Given the description of an element on the screen output the (x, y) to click on. 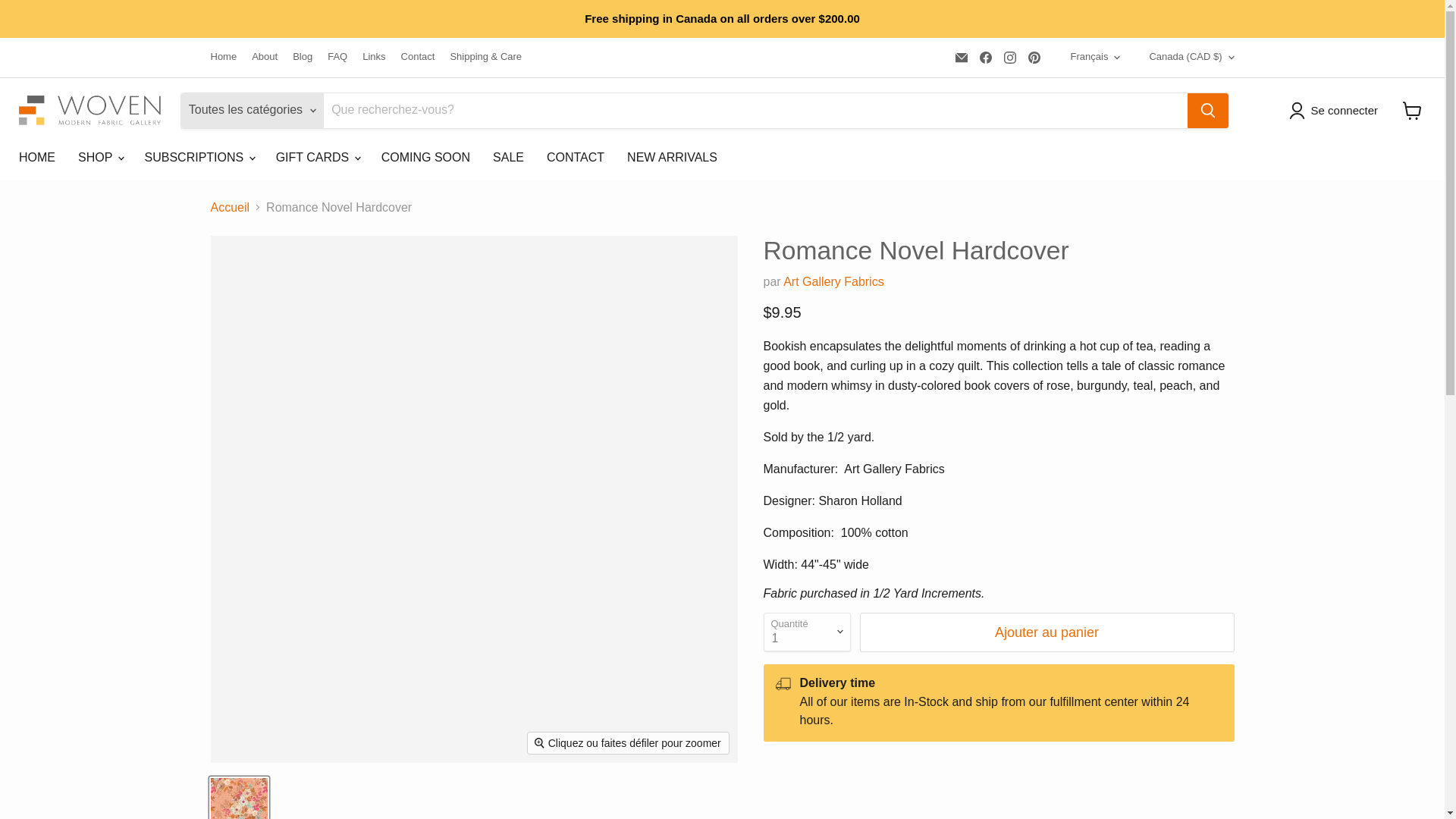
Art Gallery Fabrics (833, 281)
Trouvez-nous sur Facebook (985, 56)
Home (224, 57)
Instagram (1009, 56)
Blog (302, 57)
Trouvez-nous sur Instagram (1009, 56)
Email Woven Modern Fabric Gallery (961, 56)
Trouvez-nous sur Pinterest (1034, 56)
Facebook (985, 56)
Links (373, 57)
